Given the description of an element on the screen output the (x, y) to click on. 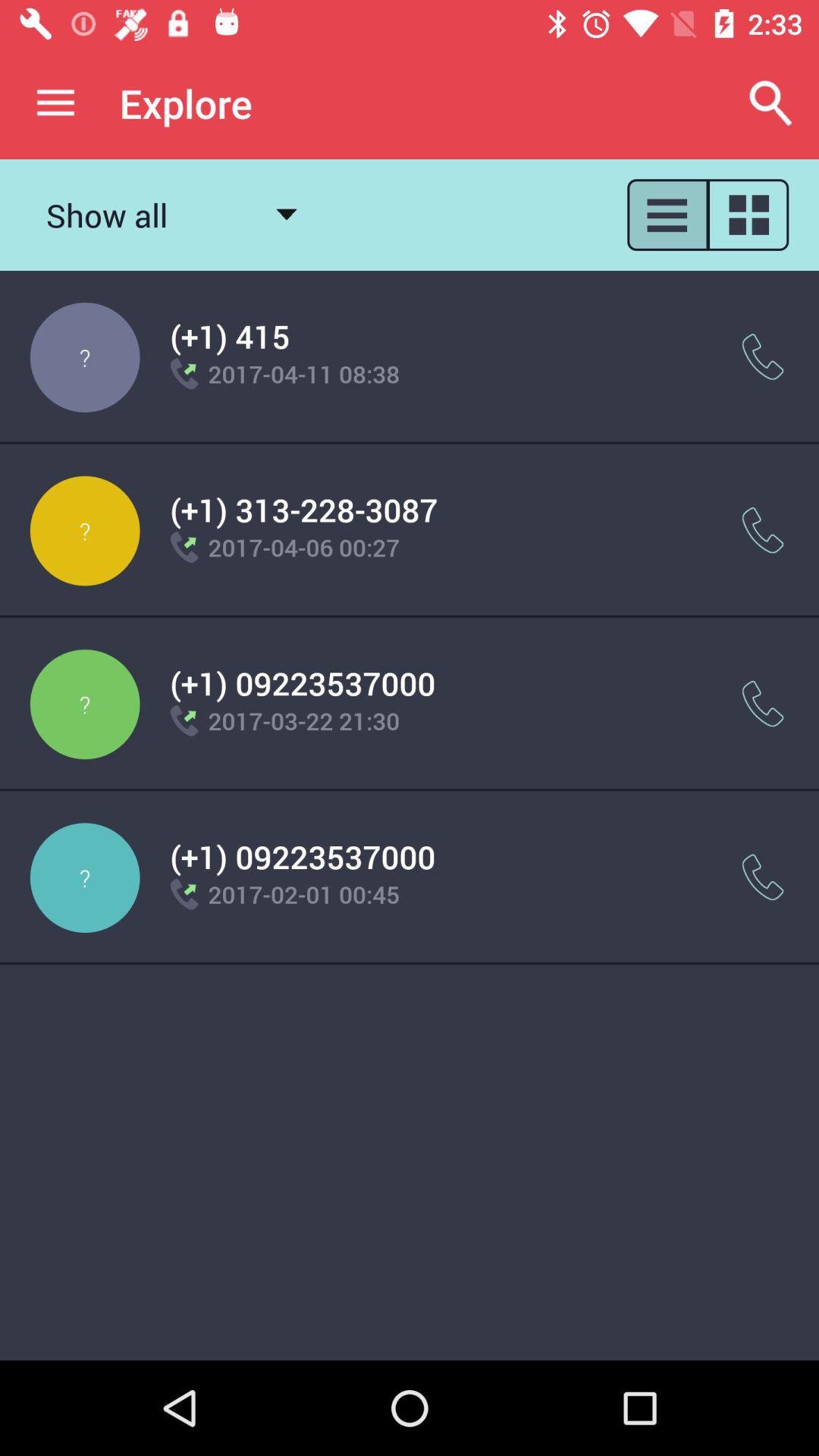
call (762, 703)
